Given the description of an element on the screen output the (x, y) to click on. 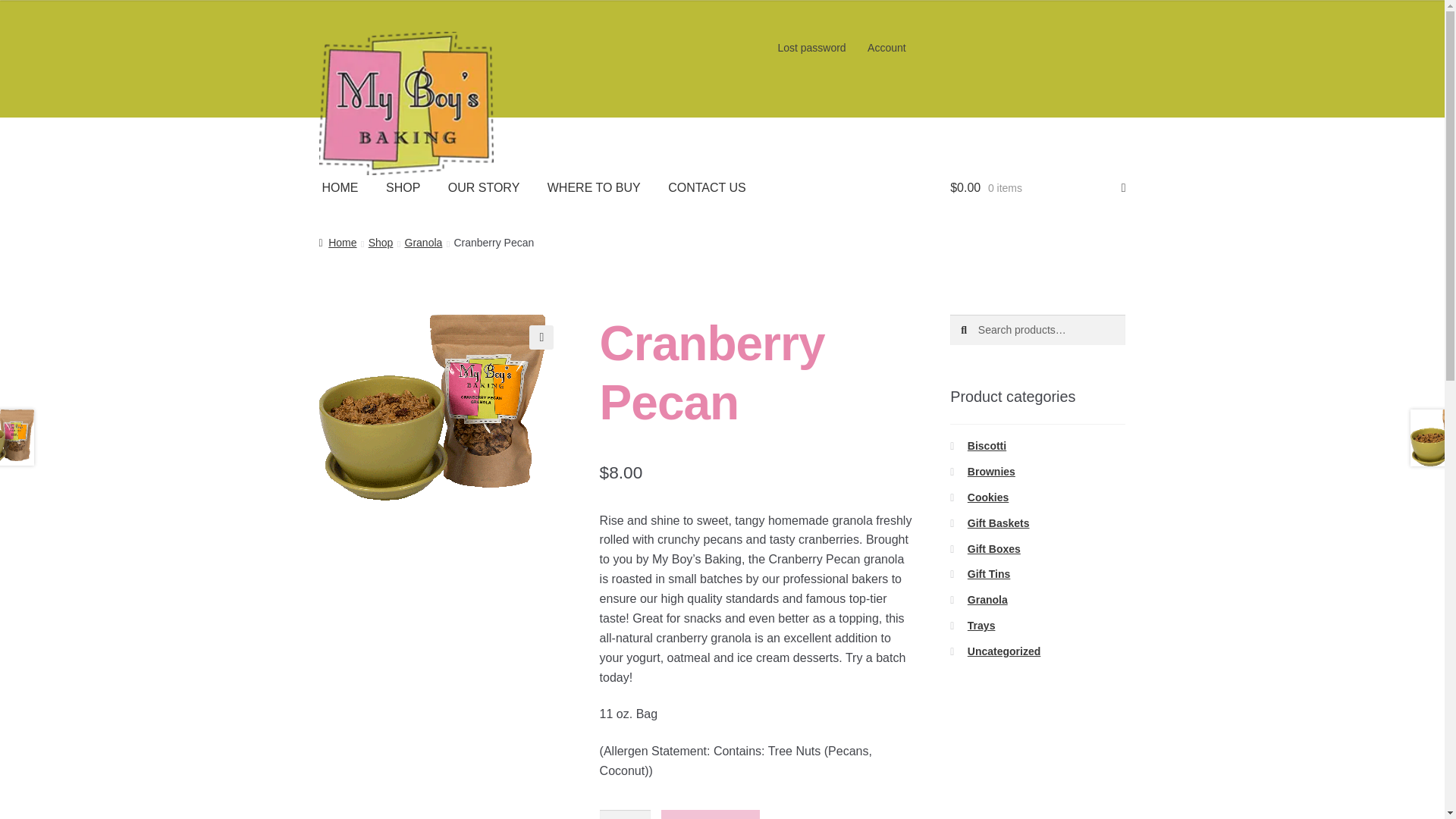
Lost password (812, 47)
CONTACT US (707, 187)
Shop (380, 242)
SHOP (403, 187)
Gift Boxes (994, 548)
WHERE TO BUY (593, 187)
HOME (340, 187)
1 (624, 814)
OUR STORY (483, 187)
Home (337, 242)
Add to cart (710, 814)
Granola (423, 242)
Gift Baskets (998, 522)
View your shopping cart (1037, 187)
